Given the description of an element on the screen output the (x, y) to click on. 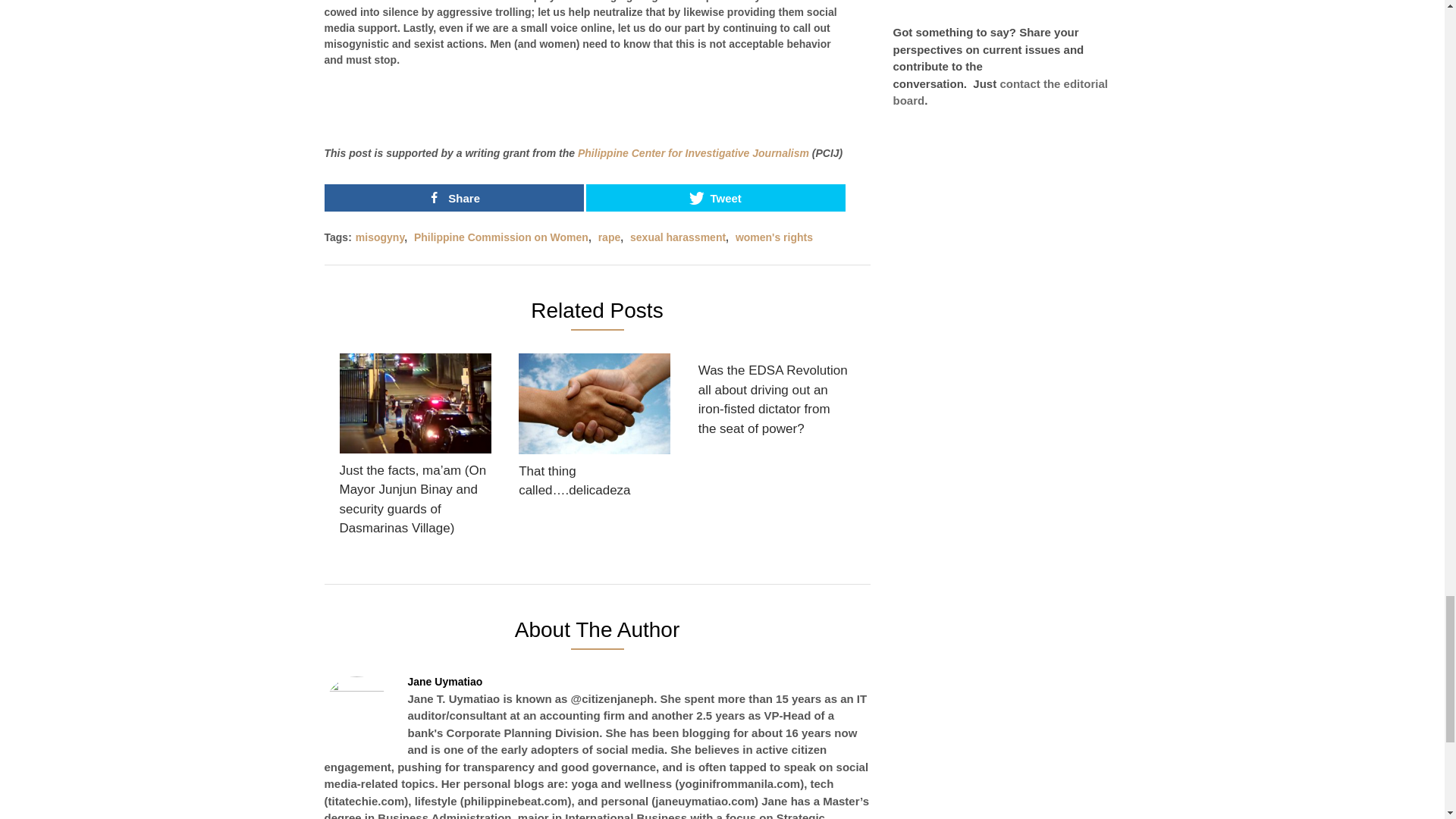
sexual harassment (677, 236)
misogyny (379, 236)
Tweet (715, 197)
Philippine Commission on Women (500, 236)
rape (609, 236)
Philippine Center for Investigative Journalism (693, 152)
women's rights (773, 236)
Share (453, 197)
